Given the description of an element on the screen output the (x, y) to click on. 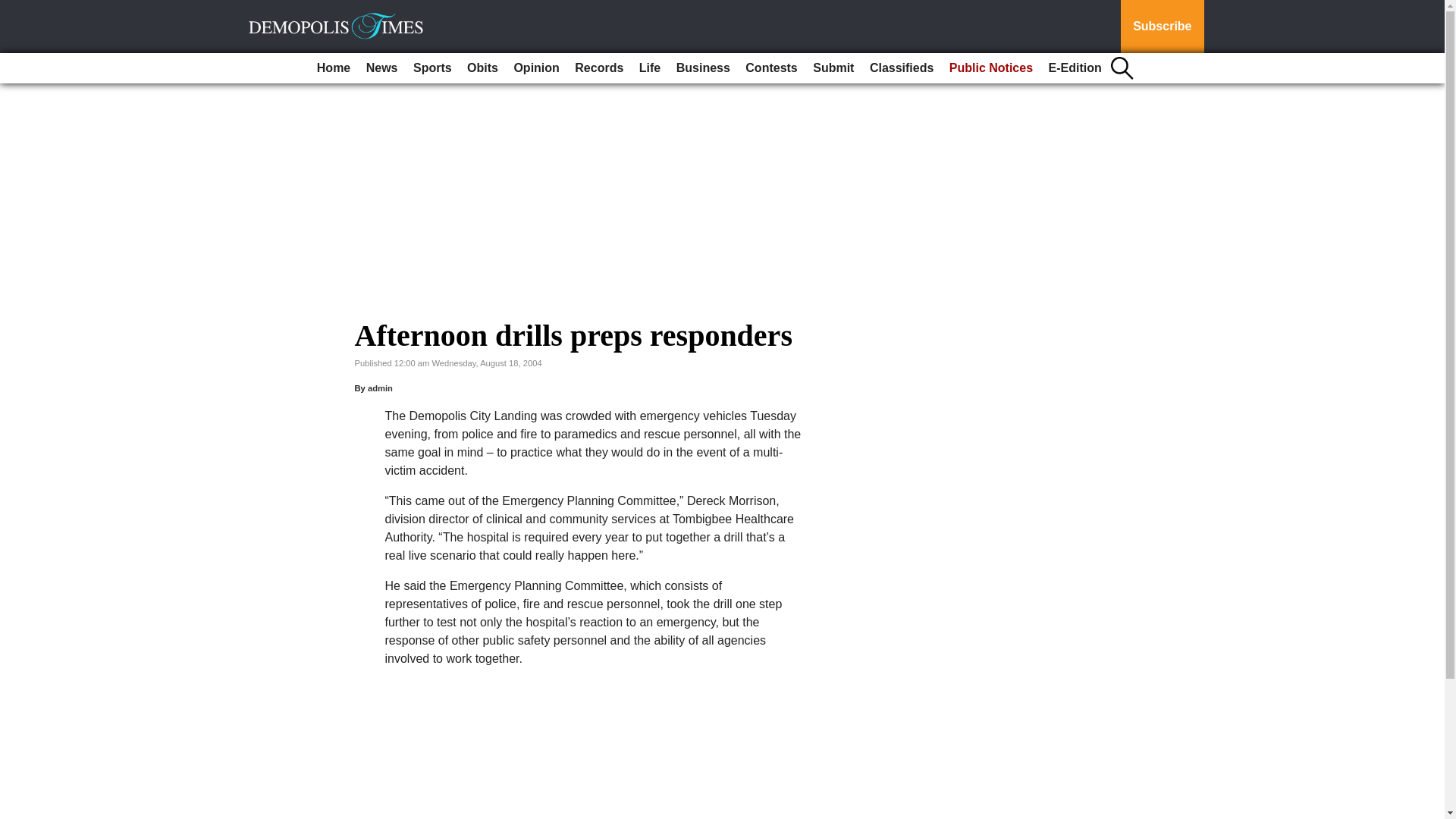
Obits (482, 68)
News (381, 68)
Subscribe (1162, 26)
Home (333, 68)
Life (649, 68)
Opinion (535, 68)
Go (13, 9)
admin (380, 388)
Business (702, 68)
E-Edition (1075, 68)
